Given the description of an element on the screen output the (x, y) to click on. 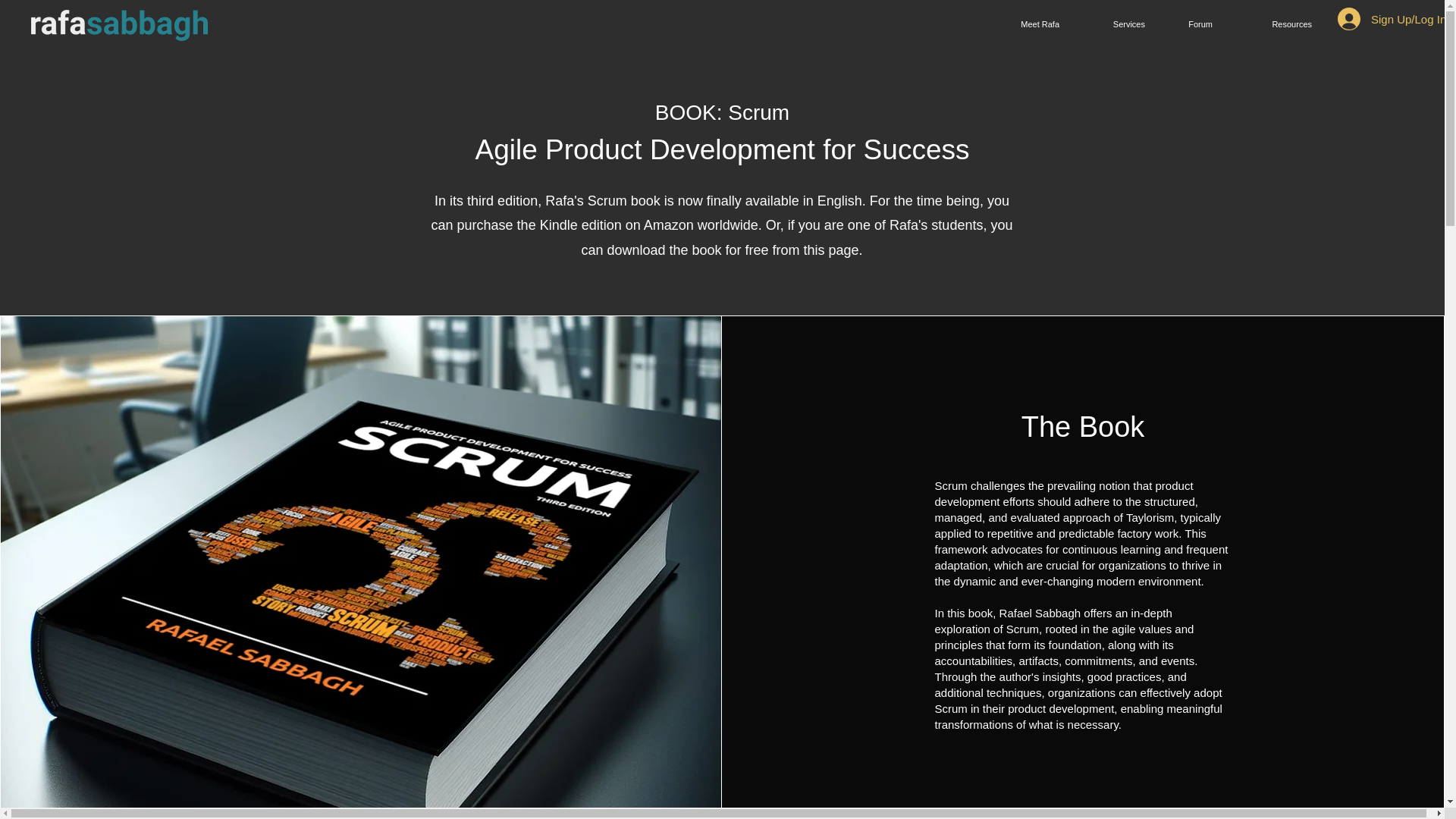
Forum (1190, 23)
Meet Rafa (1022, 23)
Services (1113, 23)
